Given the description of an element on the screen output the (x, y) to click on. 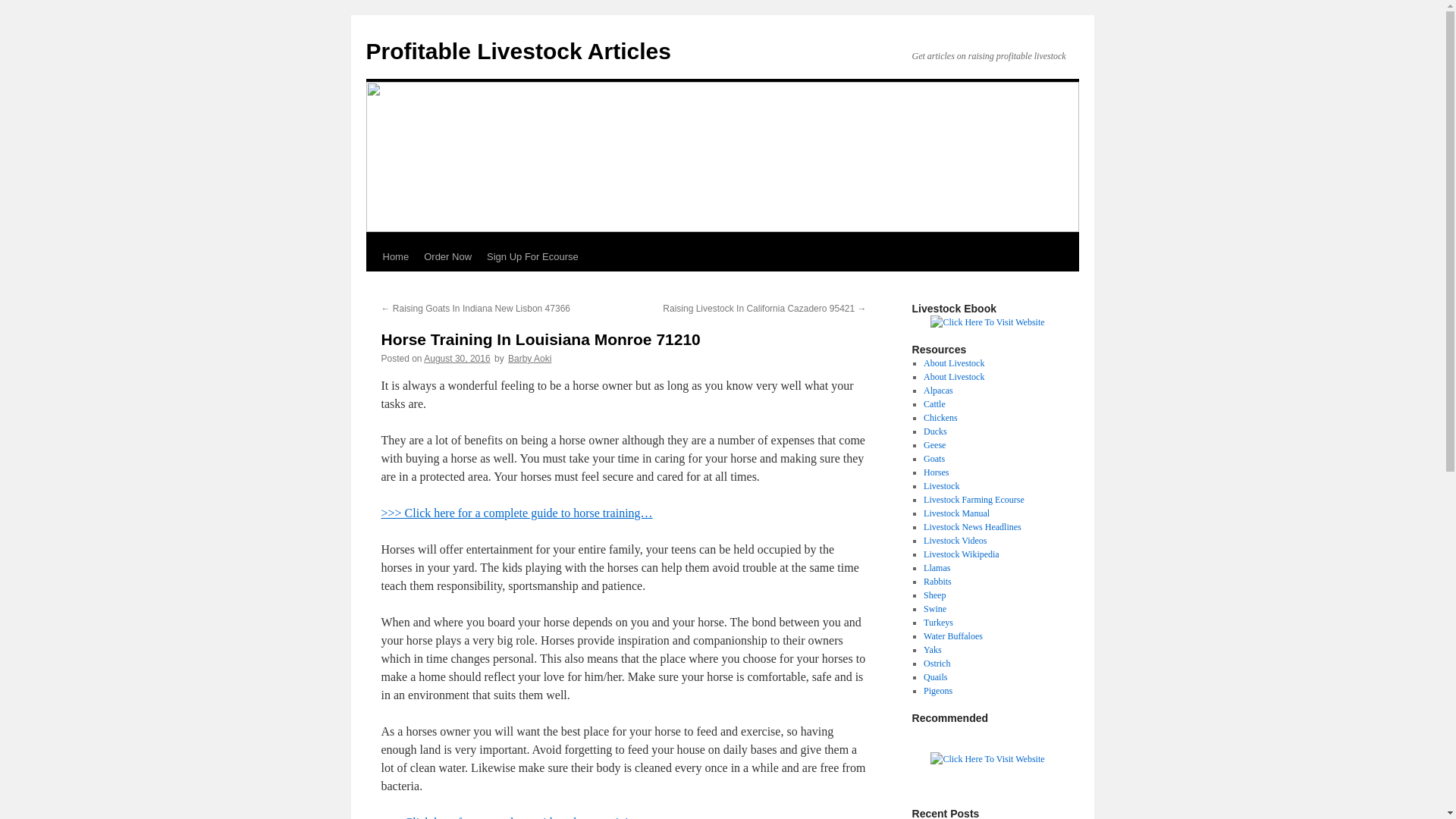
About Livestock (953, 376)
Home (395, 256)
Click Here To Visit Website (986, 758)
Profitable Livestock Articles (517, 50)
About Livestock (953, 362)
Ducks (935, 430)
Profitable Livestock Articles (517, 50)
Order Now (447, 256)
11:54 am (456, 357)
Click Here To Visit Website (986, 322)
Sign Up For Ecourse (532, 256)
August 30, 2016 (456, 357)
Chickens (940, 417)
View all posts by Barby Aoki (529, 357)
Alpacas (938, 389)
